Given the description of an element on the screen output the (x, y) to click on. 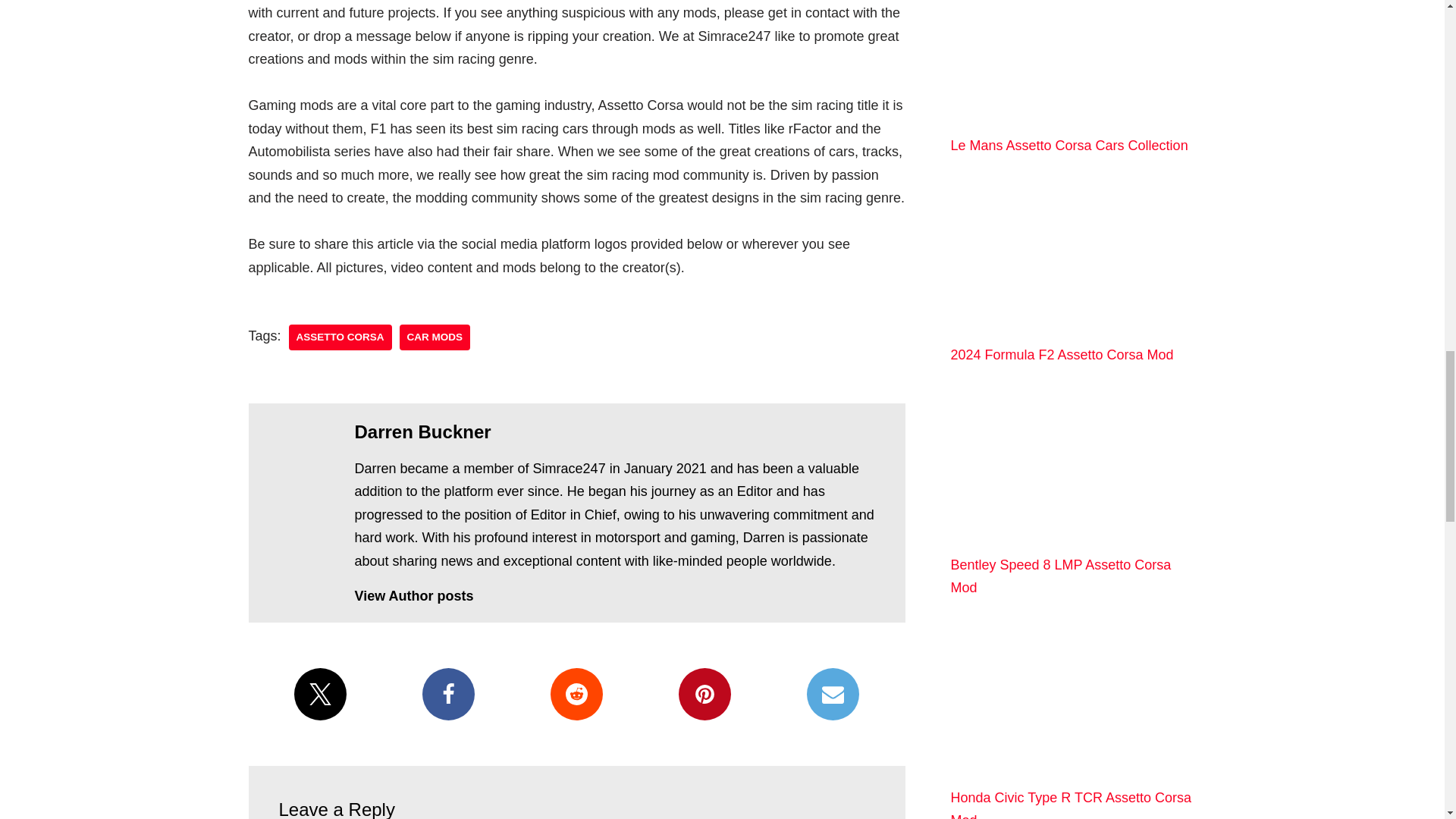
Reddit (576, 694)
Pinterest (704, 694)
Assetto Corsa (339, 337)
Email (832, 694)
Facebook (448, 694)
Twitter (320, 694)
Car Mods (434, 337)
